Given the description of an element on the screen output the (x, y) to click on. 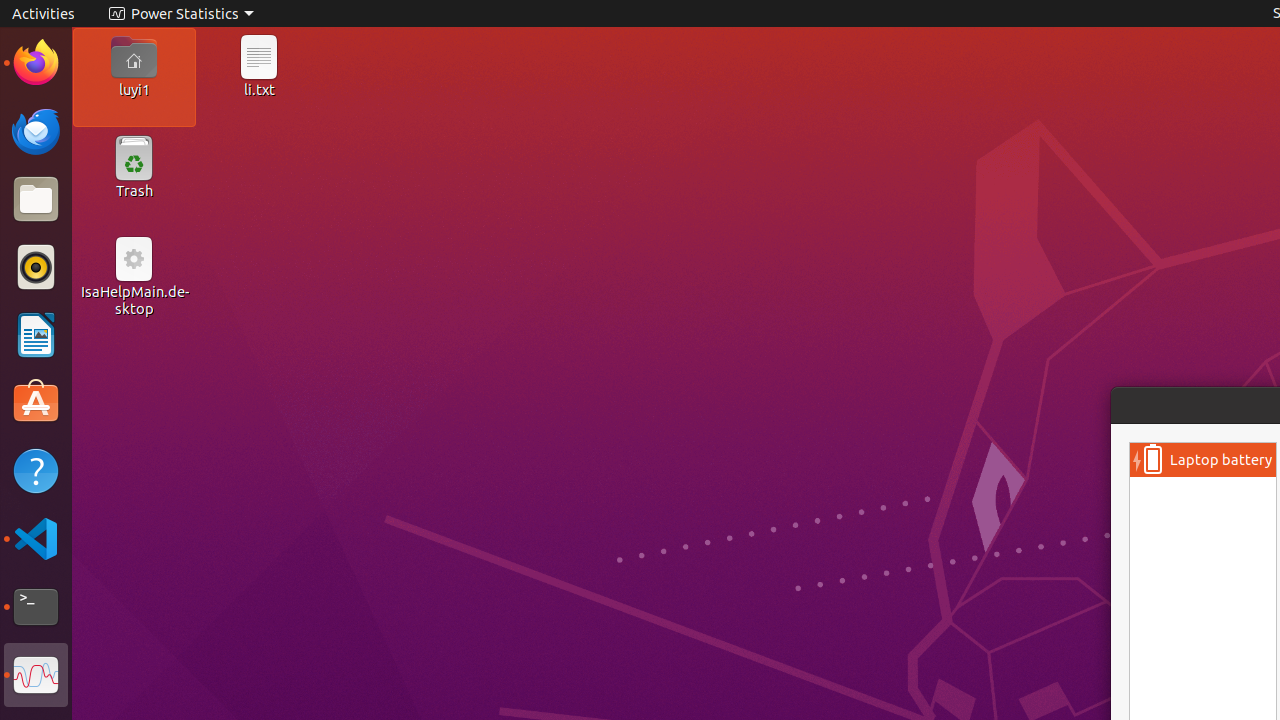
Laptop battery Element type: table-cell (1221, 460)
Terminal Element type: push-button (36, 607)
luyi1 Element type: label (133, 89)
Trash Element type: label (133, 191)
